Given the description of an element on the screen output the (x, y) to click on. 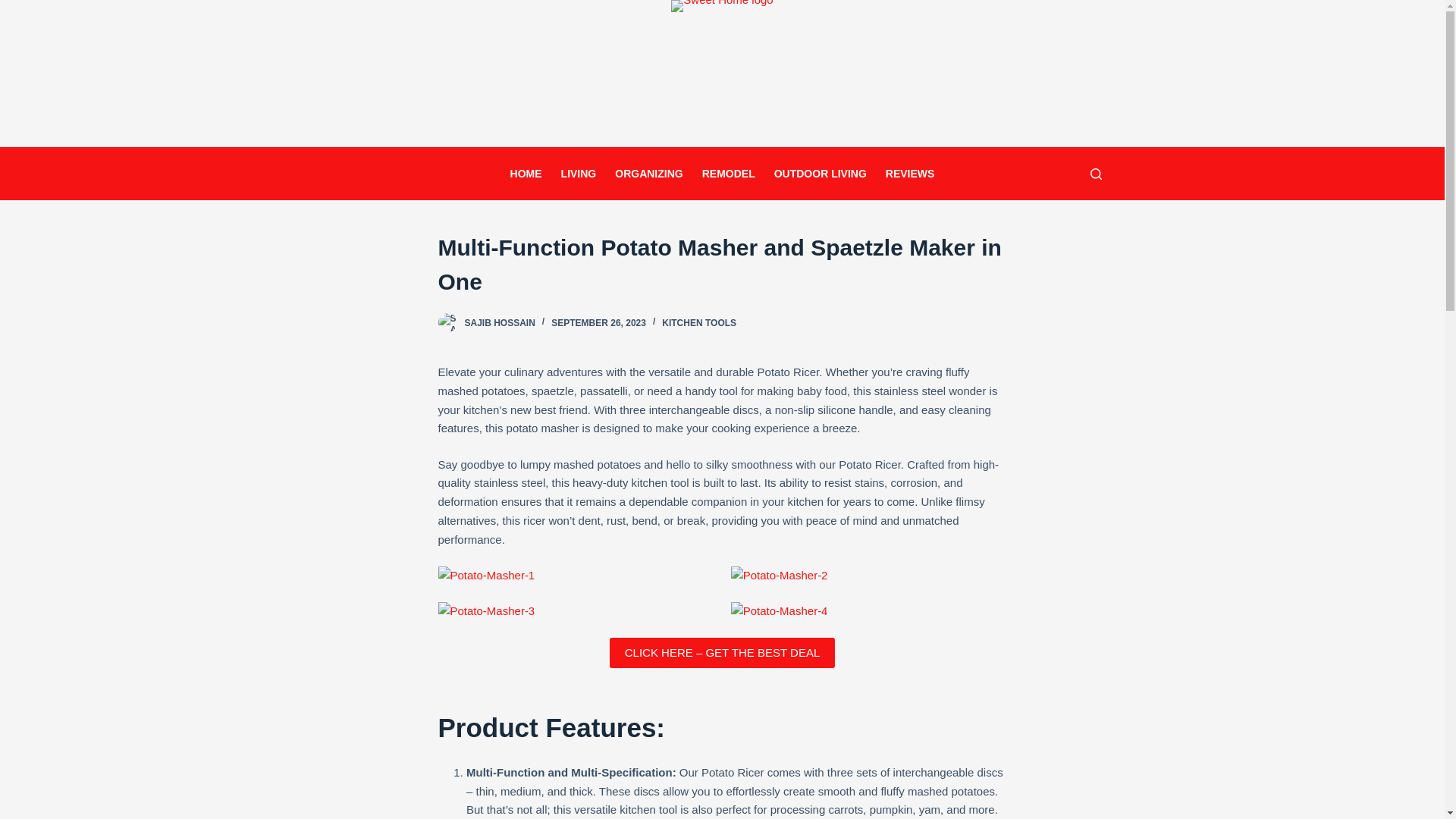
Skip to content (15, 7)
KITCHEN TOOLS (699, 322)
REVIEWS (909, 172)
Posts by Sajib Hossain (499, 322)
REMODEL (728, 172)
Multi-Function Potato Masher and Spaetzle Maker in One (722, 264)
LIVING (578, 172)
ORGANIZING (649, 172)
OUTDOOR LIVING (820, 172)
HOME (525, 172)
SAJIB HOSSAIN (499, 322)
